Given the description of an element on the screen output the (x, y) to click on. 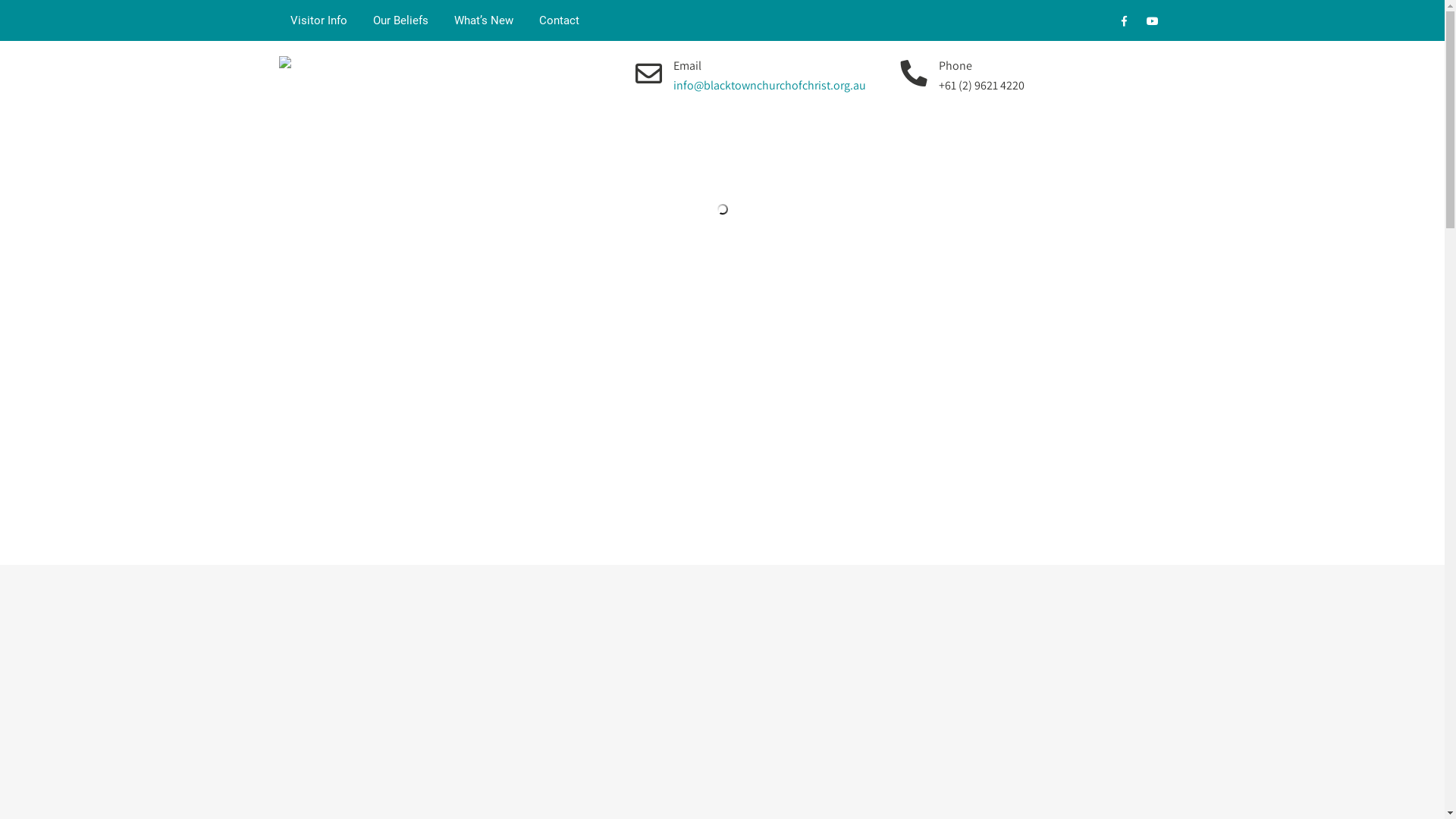
Contact Element type: text (558, 20)
Visitor Info Element type: text (318, 20)
fab fa-facebook-f Element type: hover (1123, 23)
info@blacktownchurchofchrist.org.au Element type: text (769, 85)
fab fa-youtube Element type: hover (1152, 23)
Our Beliefs Element type: text (399, 20)
